Given the description of an element on the screen output the (x, y) to click on. 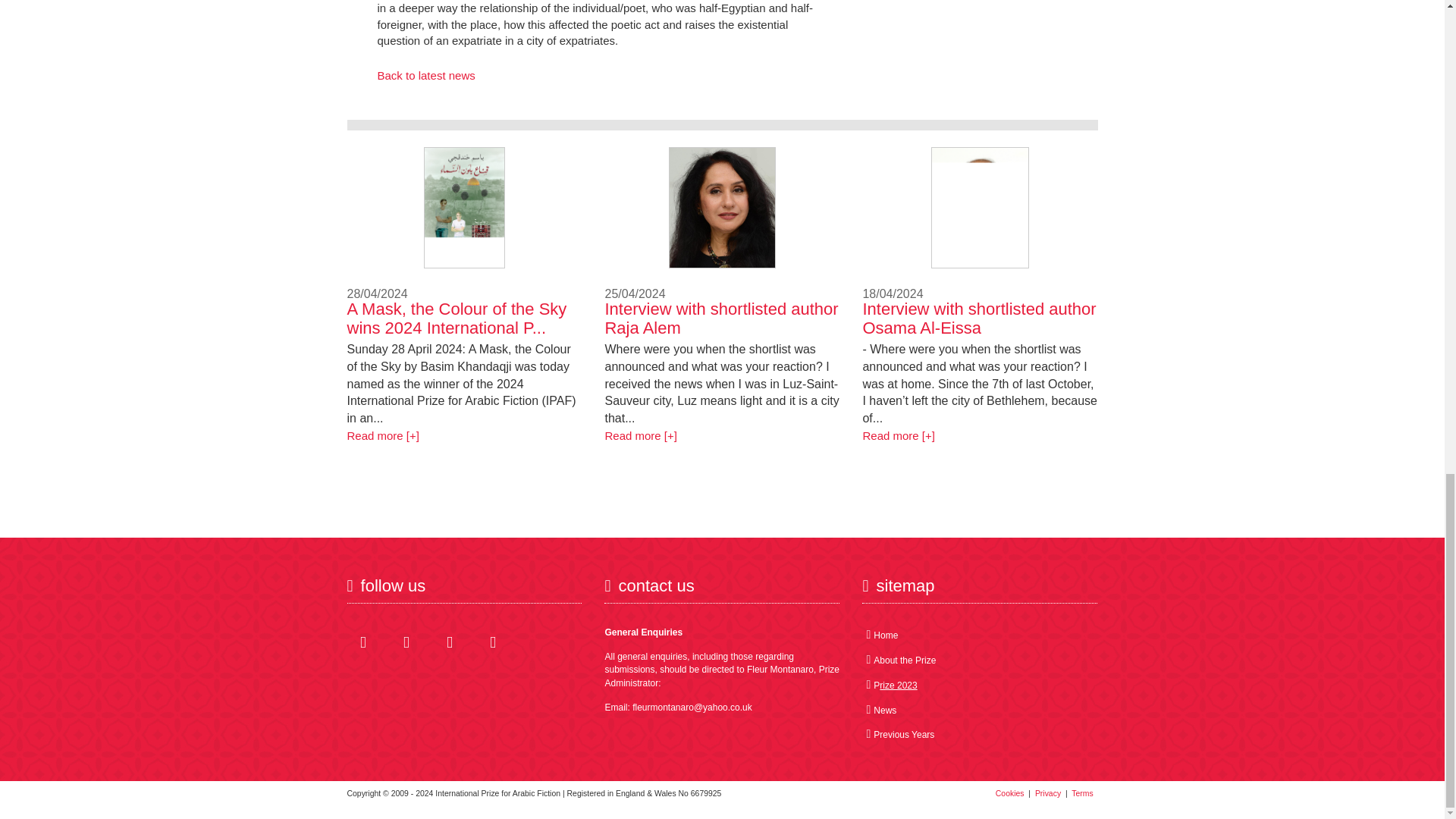
Instagram (449, 641)
A Mask, the Colour of the Sky wins 2024 International P... (457, 317)
Interview with shortlisted author Osama Al-Eissa (978, 317)
Back to latest news (426, 74)
Twitter (406, 641)
Interview with shortlisted author Osama Al-Eissa (897, 435)
Interview with shortlisted author Raja Alem (721, 317)
Back to latest news (426, 74)
Interview with shortlisted author Raja Alem  (640, 435)
